Given the description of an element on the screen output the (x, y) to click on. 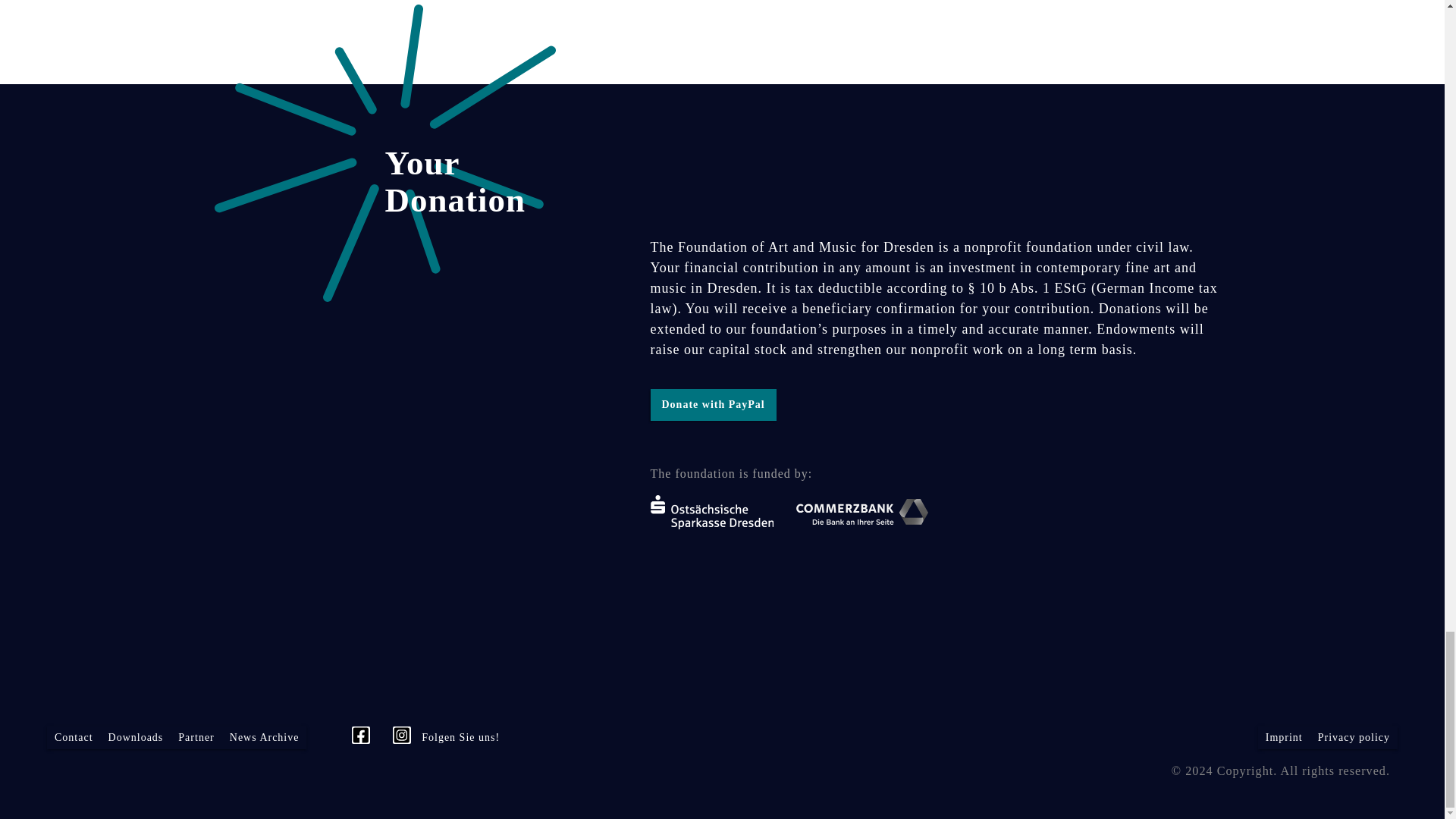
Donate with PayPal (713, 404)
Downloads (135, 737)
Partner (195, 737)
Skip navigation (312, 729)
Contact (73, 737)
